Given the description of an element on the screen output the (x, y) to click on. 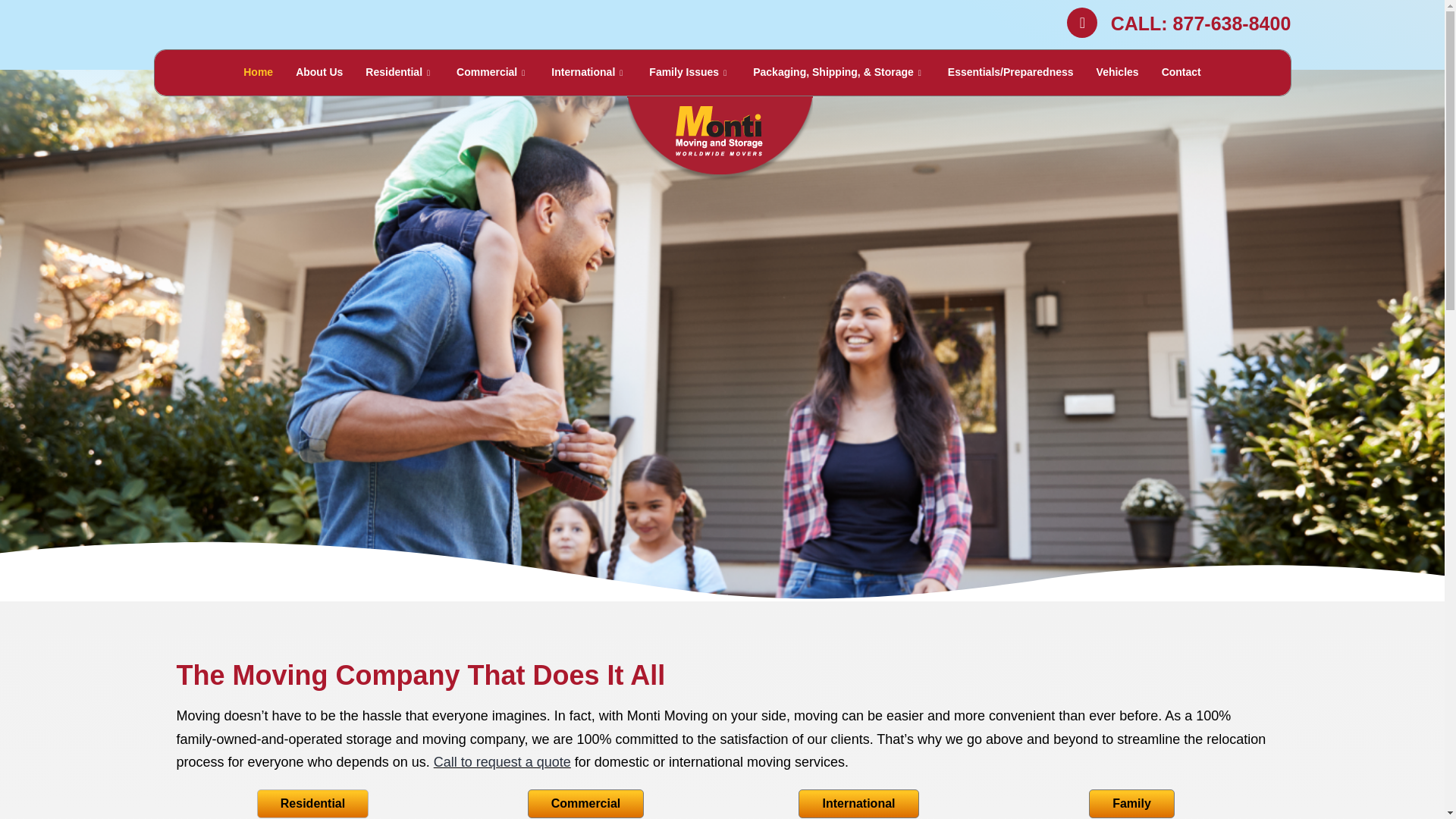
CALL: 877-638-8400 (1200, 23)
About Us (318, 72)
Vehicles (1117, 72)
Home (257, 72)
International (588, 72)
Contact (1181, 72)
Family Issues (689, 72)
Residential (399, 72)
Commercial (492, 72)
